Given the description of an element on the screen output the (x, y) to click on. 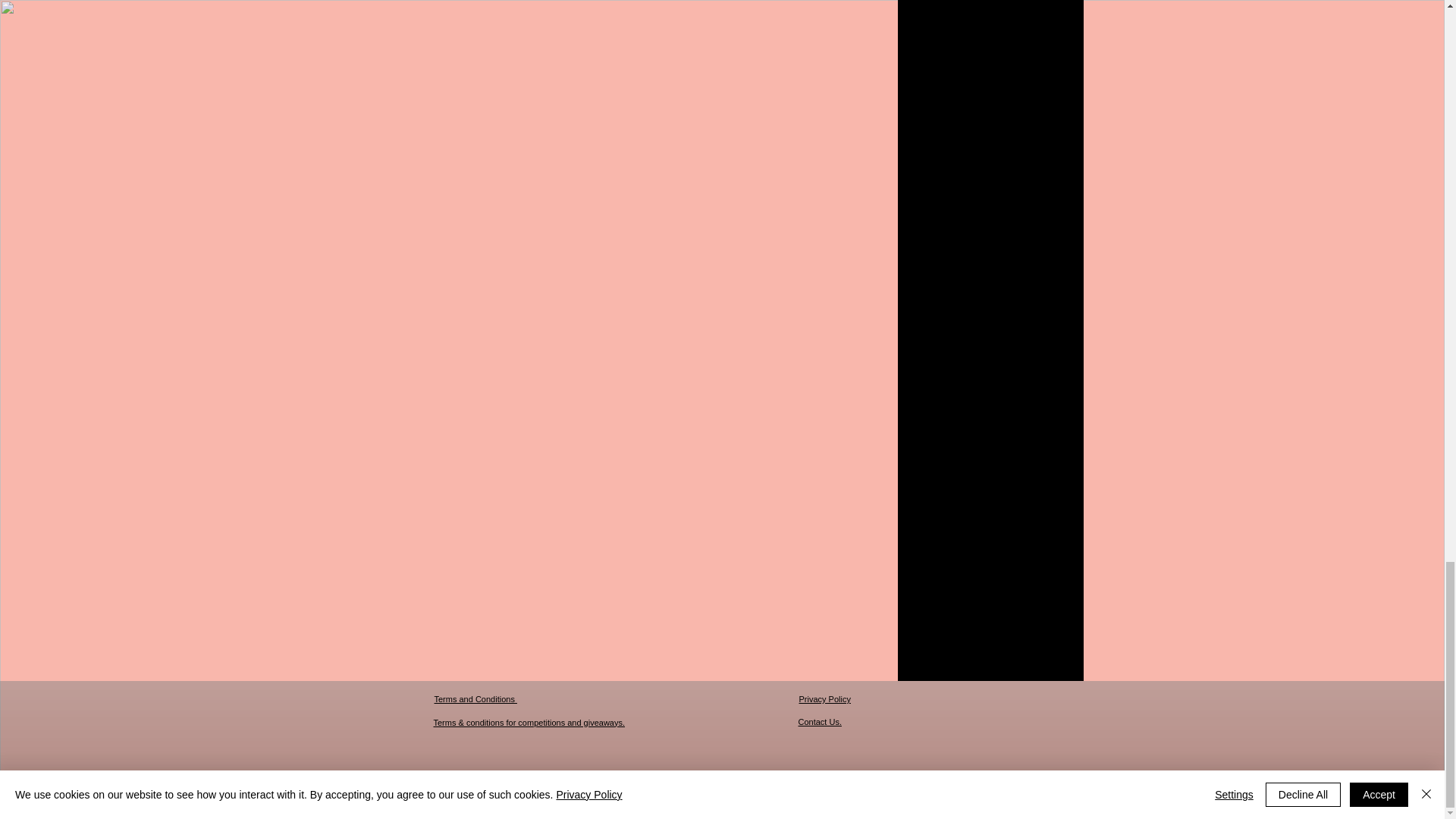
Privacy Policy (824, 698)
Terms and Conditions  (474, 698)
Contact Us. (819, 721)
